Given the description of an element on the screen output the (x, y) to click on. 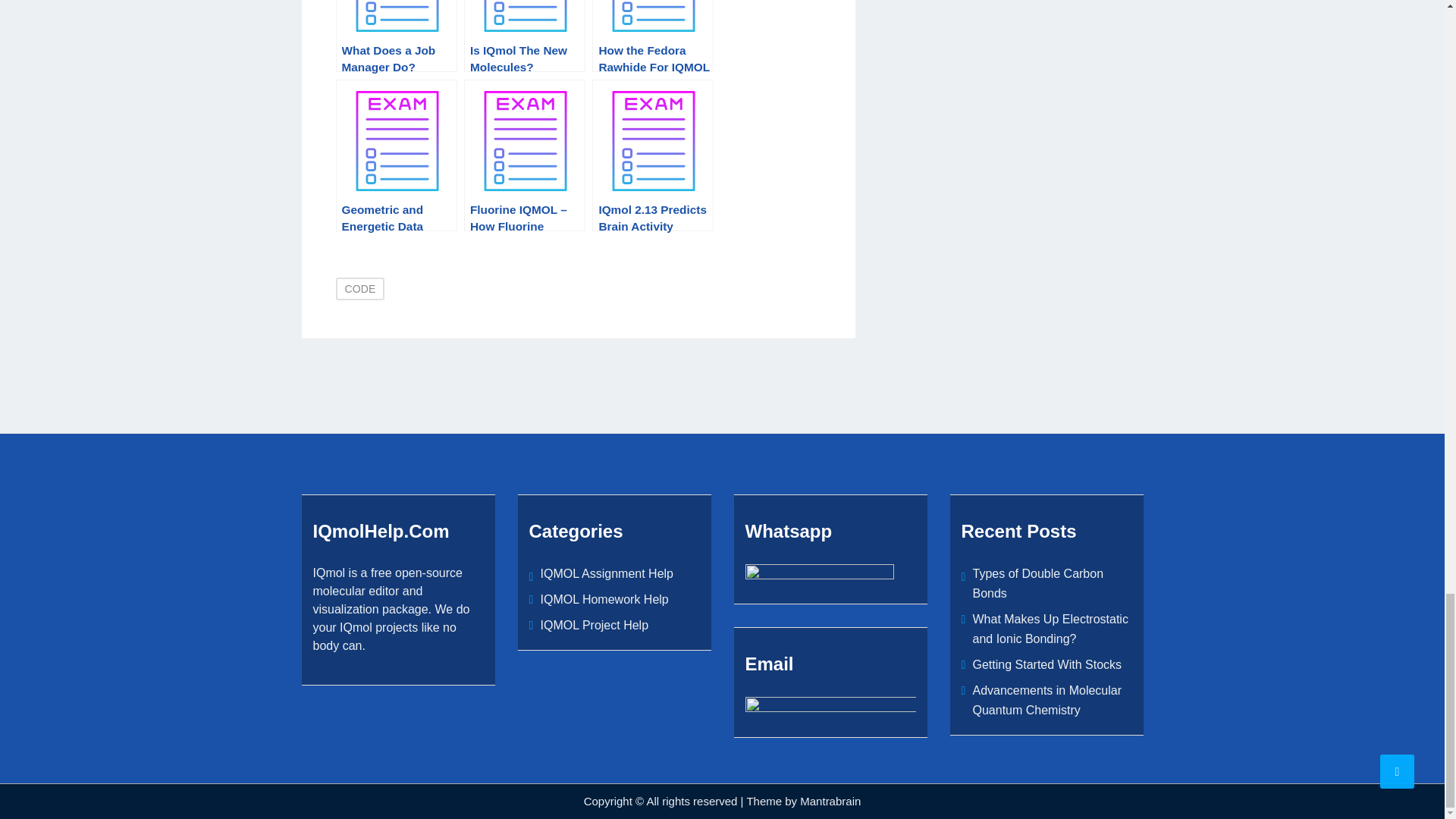
IQMOL Project Help (593, 625)
What Makes Up Electrostatic and Ionic Bonding? (1049, 628)
How the Fedora Rawhide For IQMOL Works (652, 36)
IQMOL Homework Help (604, 599)
IQMOL Assignment Help (606, 573)
Is IQmol The New Molecules? (524, 36)
What Does a Job Manager Do? (395, 36)
CODE (359, 288)
Advancements in Molecular Quantum Chemistry (1046, 699)
Types of Double Carbon Bonds (1037, 583)
Getting Started With Stocks (1046, 664)
What Does a Job Manager Do? (395, 36)
Is IQmol The New Molecules? (524, 36)
Mantrabrain (829, 800)
Mantrabrain (829, 800)
